Given the description of an element on the screen output the (x, y) to click on. 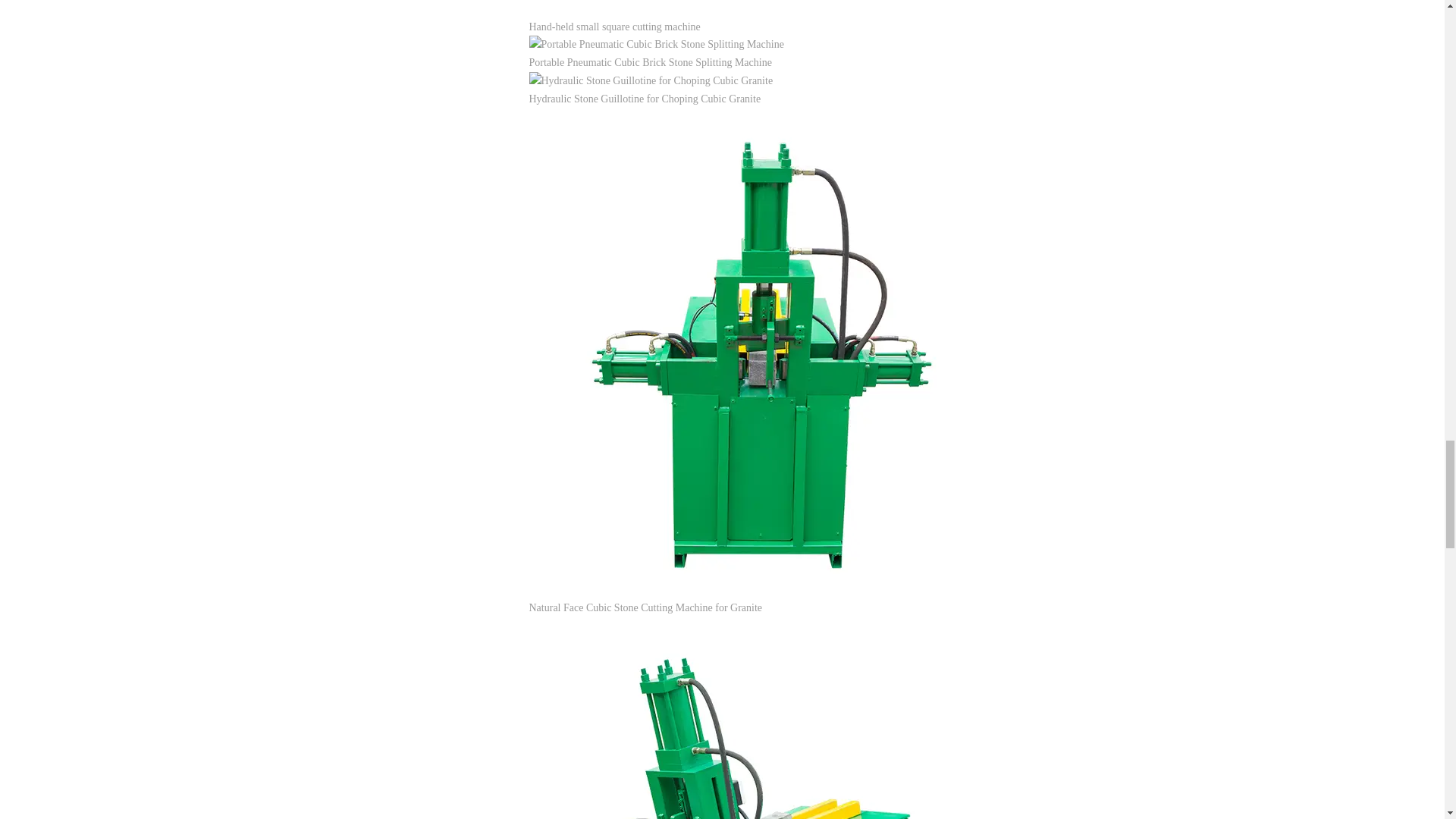
Portable Pneumatic Cubic Brick Stone Splitting Machine (650, 61)
Portable Pneumatic Cubic Brick Stone Splitting Machine (650, 61)
Hydraulic Stone Guillotine for Choping Cubic Granite (645, 98)
Hand-held small square cutting machine (614, 26)
Hand-held small square cutting machine (614, 26)
